Given the description of an element on the screen output the (x, y) to click on. 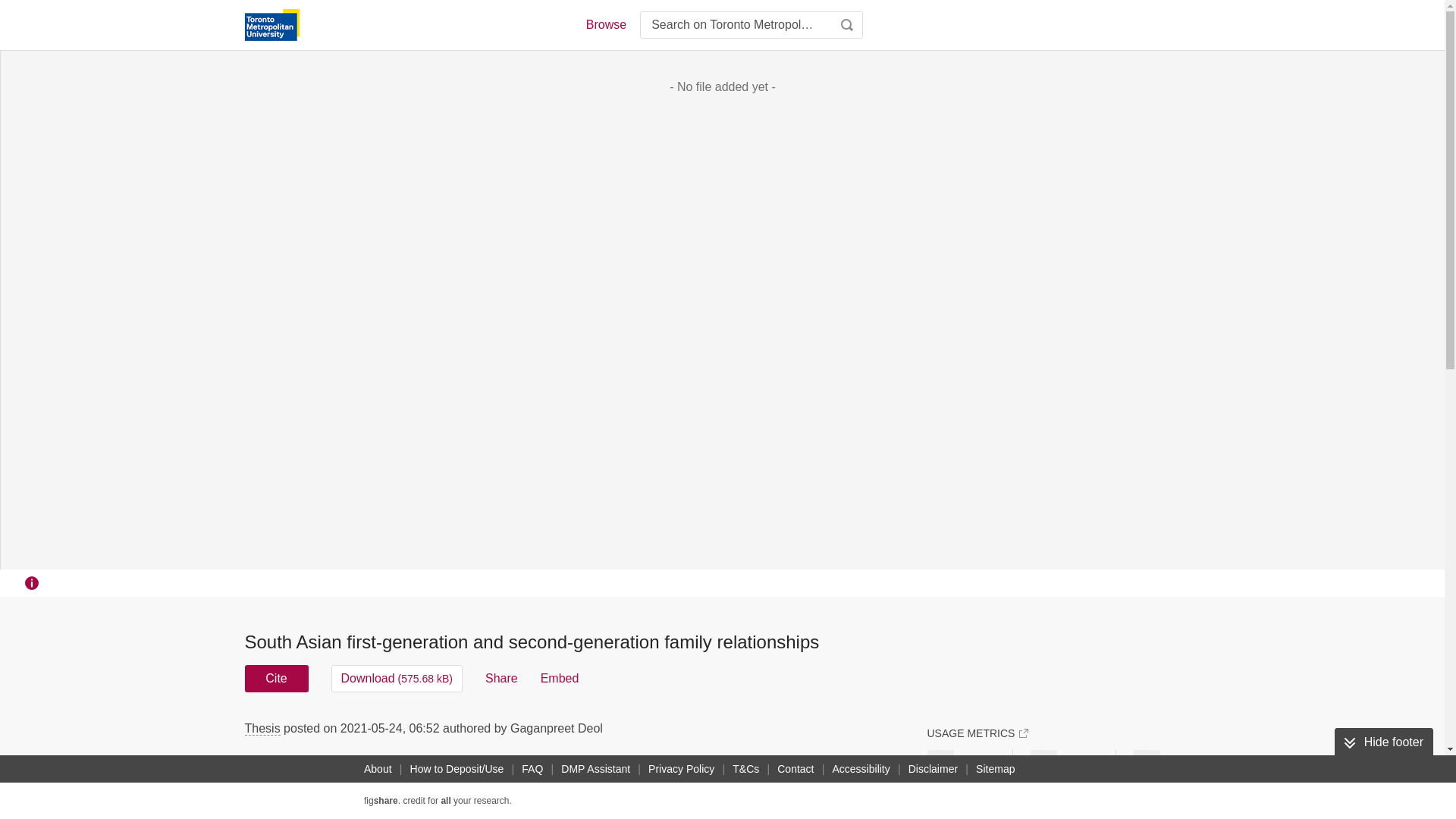
Disclaimer (933, 769)
Browse (605, 24)
Share (501, 678)
Embed (559, 678)
Accessibility (861, 769)
Cite (275, 678)
FAQ (531, 769)
Sitemap (995, 769)
Hide footer (1383, 742)
Contact (795, 769)
About (377, 769)
DMP Assistant (595, 769)
Privacy Policy (681, 769)
USAGE METRICS (976, 732)
